Given the description of an element on the screen output the (x, y) to click on. 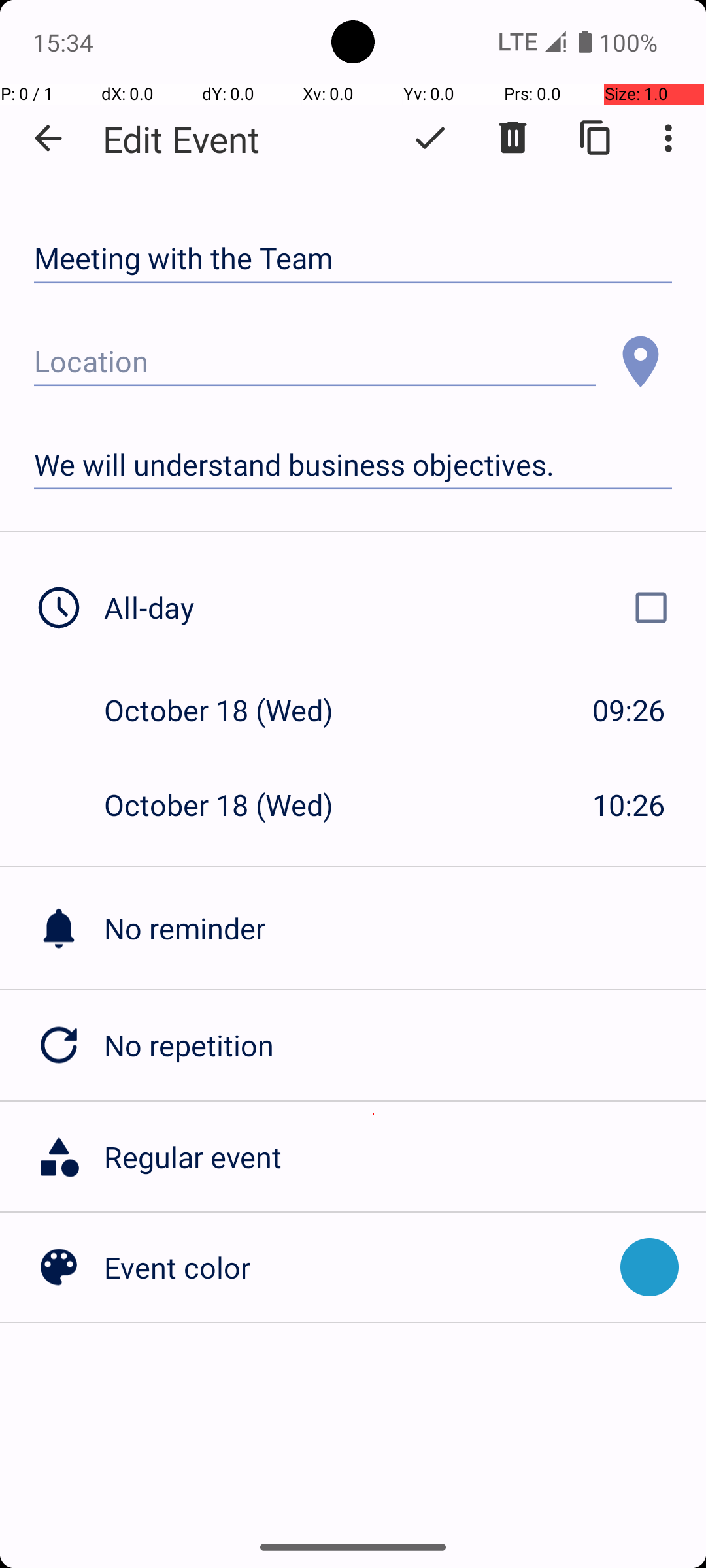
We will understand business objectives. Element type: android.widget.EditText (352, 465)
October 18 (Wed) Element type: android.widget.TextView (232, 709)
09:26 Element type: android.widget.TextView (628, 709)
10:26 Element type: android.widget.TextView (628, 804)
